Given the description of an element on the screen output the (x, y) to click on. 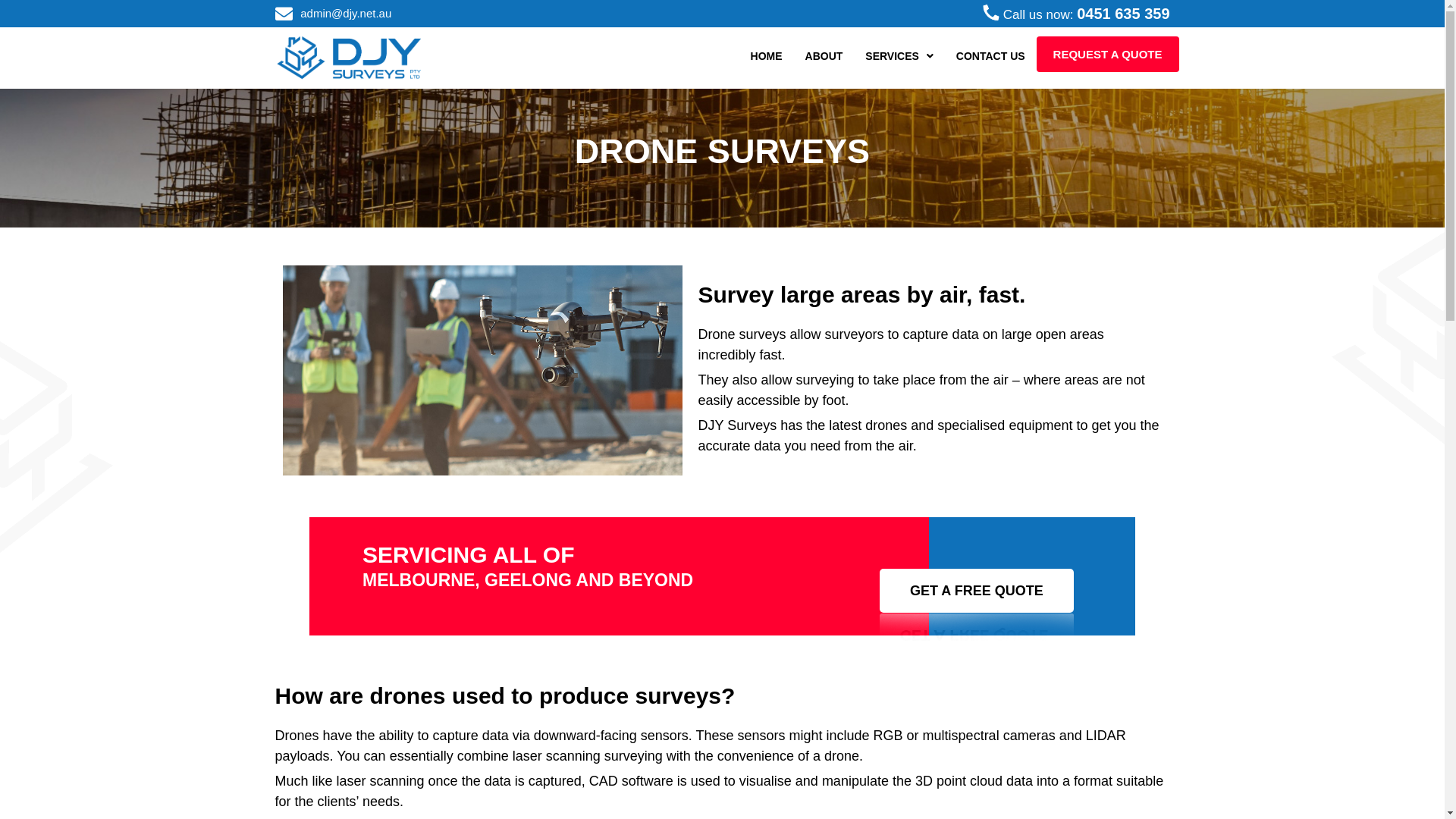
HOME Element type: text (766, 55)
GET A FREE QUOTE Element type: text (976, 590)
admin@djy.net.au Element type: text (494, 13)
ABOUT Element type: text (823, 55)
REQUEST A QUOTE Element type: text (1107, 54)
Call us now: 0451 635 359 Element type: text (949, 13)
CONTACT US Element type: text (990, 55)
SERVICES Element type: text (898, 55)
